Given the description of an element on the screen output the (x, y) to click on. 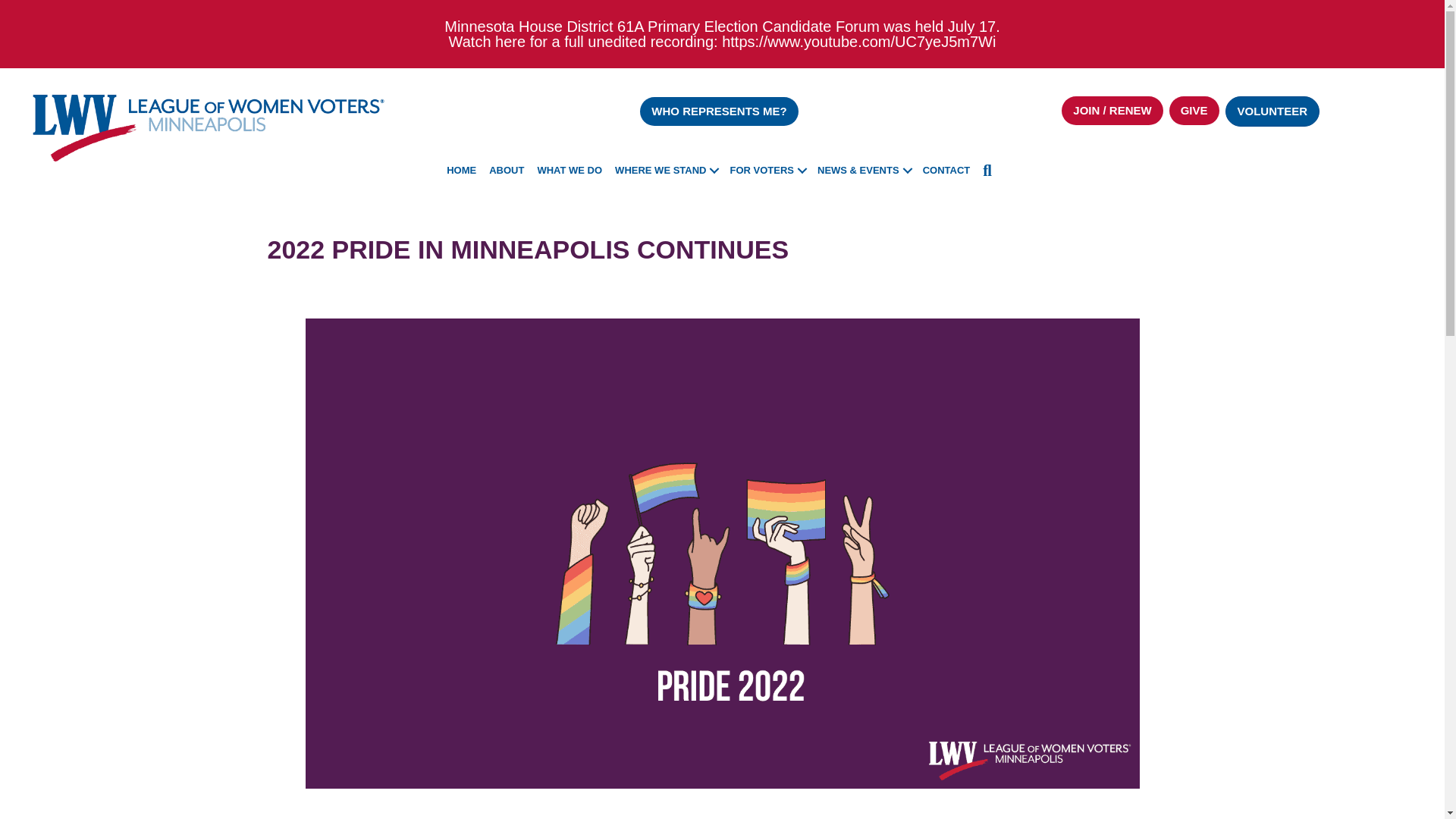
HOME (461, 171)
GIVE (1194, 110)
WHERE WE STAND (665, 171)
CONTACT (946, 171)
lwvm-banner-logo-test-1 (208, 126)
Search (990, 171)
WHAT WE DO (569, 171)
VOLUNTEER (1272, 111)
WHO REPRESENTS ME? (718, 111)
FOR VOTERS (766, 171)
ABOUT (506, 171)
